Given the description of an element on the screen output the (x, y) to click on. 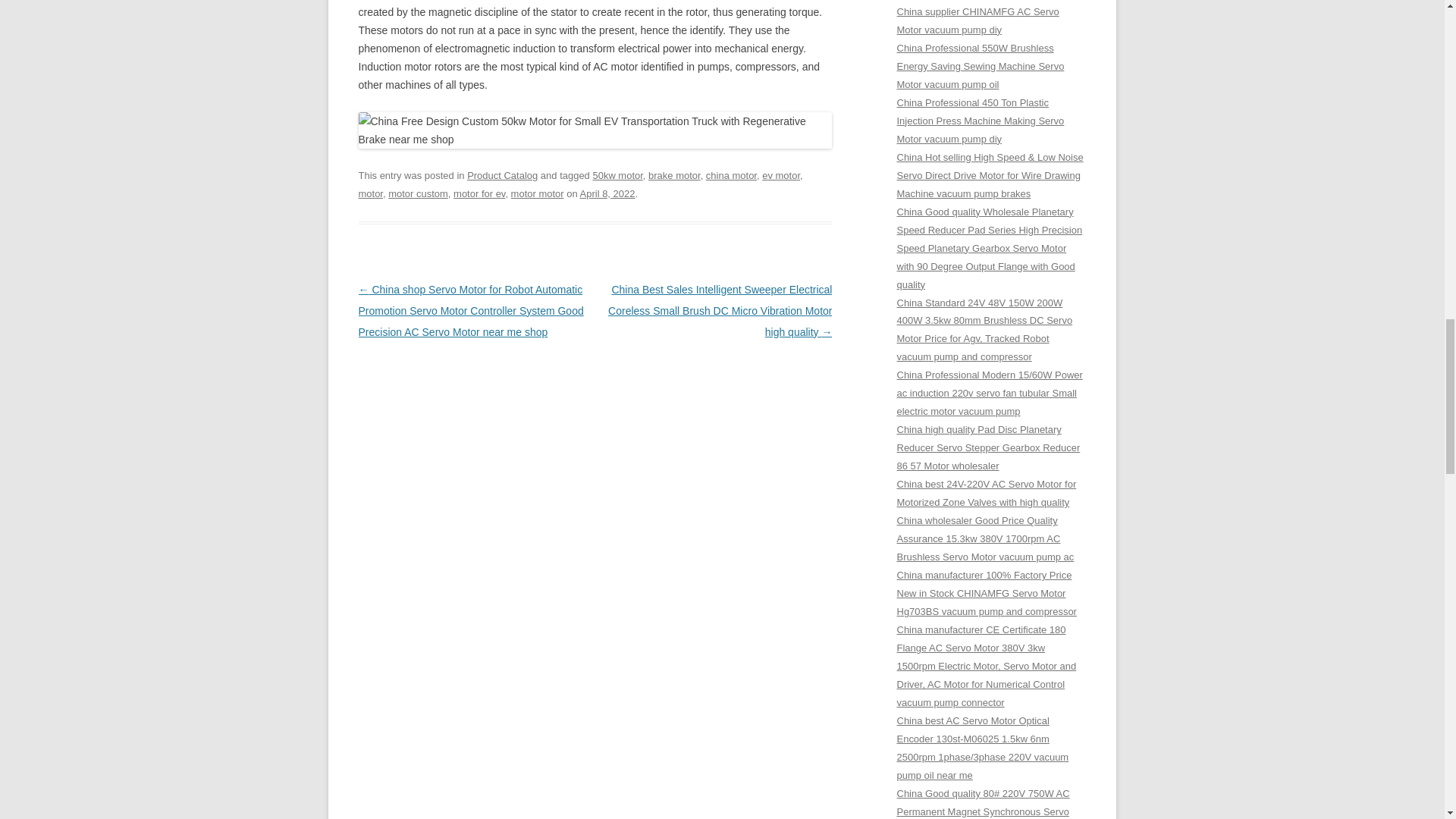
motor for ev (478, 193)
motor (369, 193)
motor motor (537, 193)
Product Catalog (502, 174)
50kw motor (617, 174)
ev motor (780, 174)
china motor (731, 174)
motor custom (418, 193)
April 8, 2022 (606, 193)
brake motor (673, 174)
8:09 pm (606, 193)
